Given the description of an element on the screen output the (x, y) to click on. 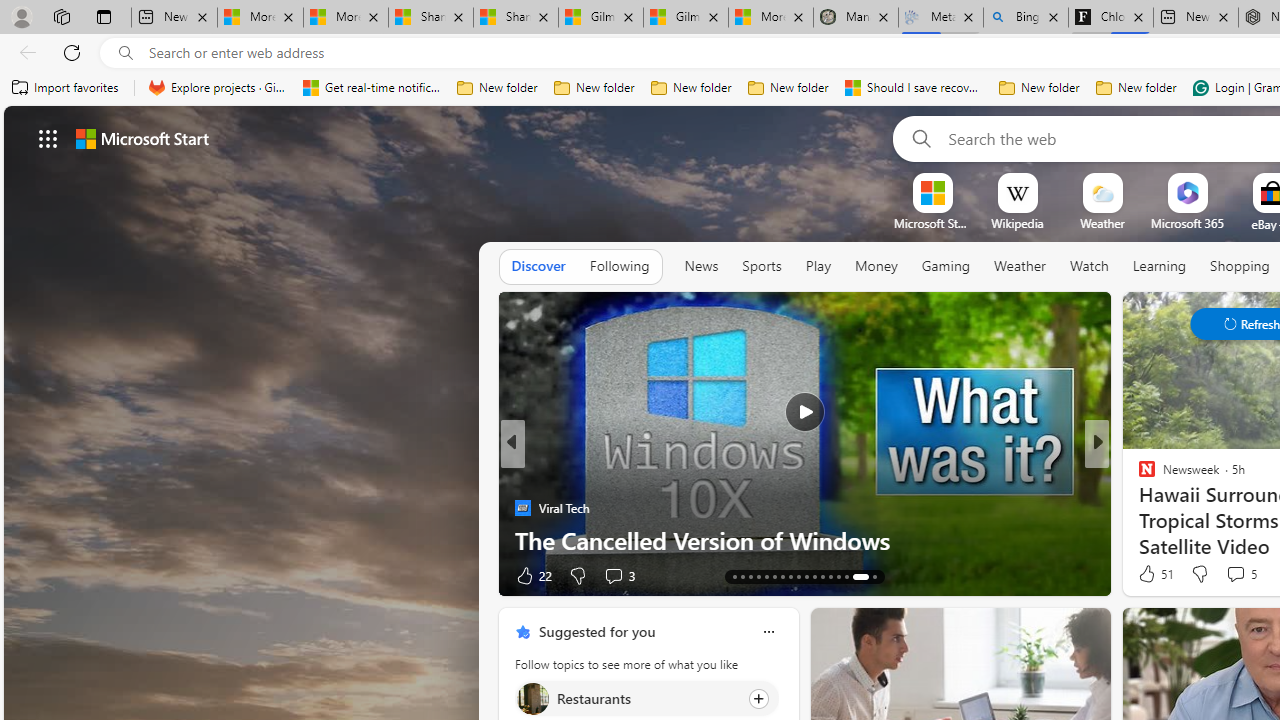
Class: icon-img (768, 632)
Learning (1159, 267)
Bing Real Estate - Home sales and rental listings (1025, 17)
AutomationID: tab-22 (774, 576)
AutomationID: waffle (47, 138)
Should I save recovered Word documents? - Microsoft Support (913, 88)
AutomationID: tab-29 (829, 576)
AutomationID: tab-20 (757, 576)
